Given the description of an element on the screen output the (x, y) to click on. 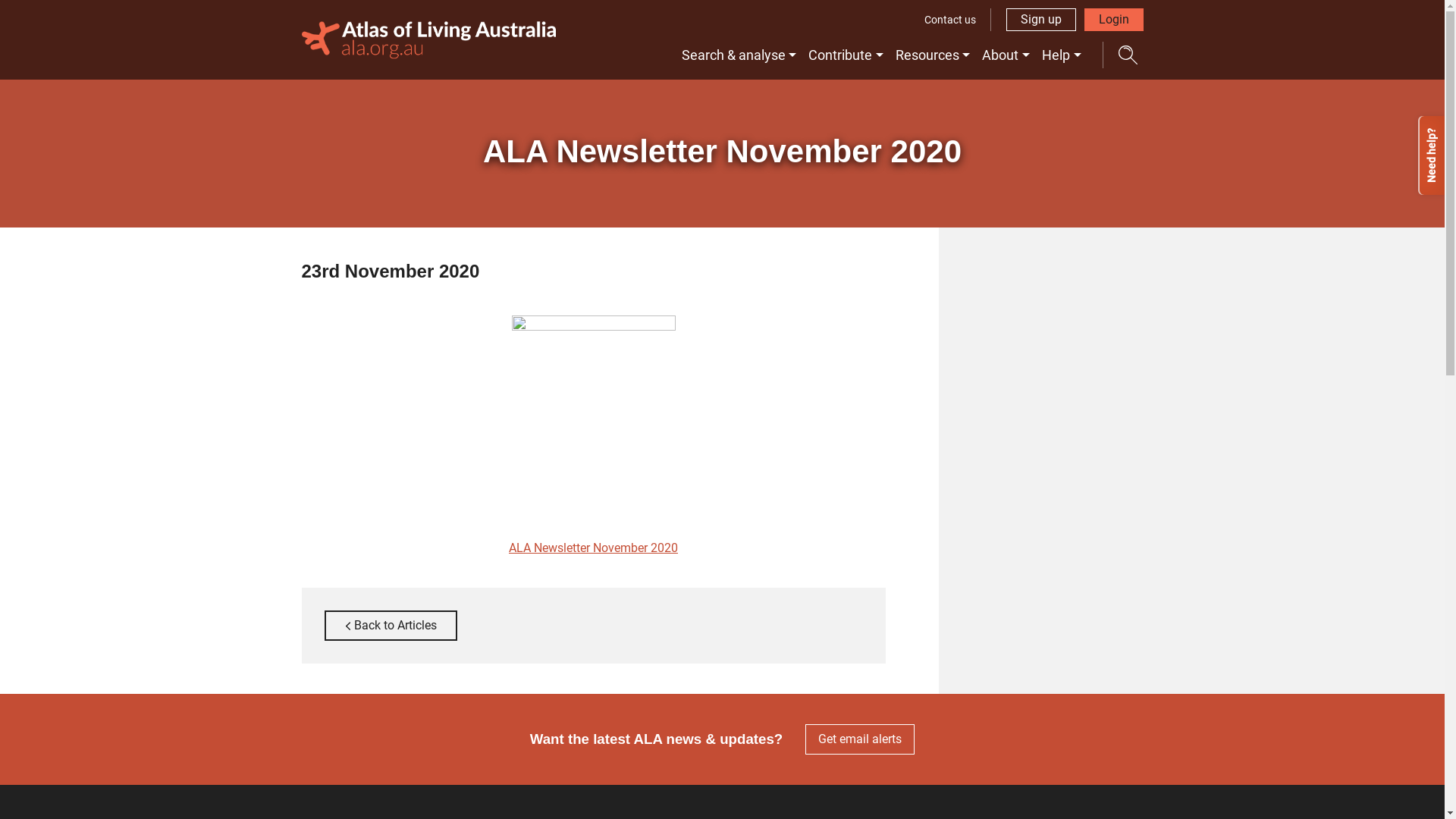
Search & analyse Element type: text (739, 54)
Login Element type: text (1113, 19)
Contact us Element type: text (950, 19)
About Element type: text (1005, 54)
Help Element type: text (1061, 54)
Get email alerts Element type: text (859, 739)
Contribute Element type: text (845, 54)
Back to Articles Element type: text (390, 625)
Resources Element type: text (932, 54)
ALA Newsletter November 2020 Element type: text (592, 547)
Sign up Element type: text (1040, 19)
